Given the description of an element on the screen output the (x, y) to click on. 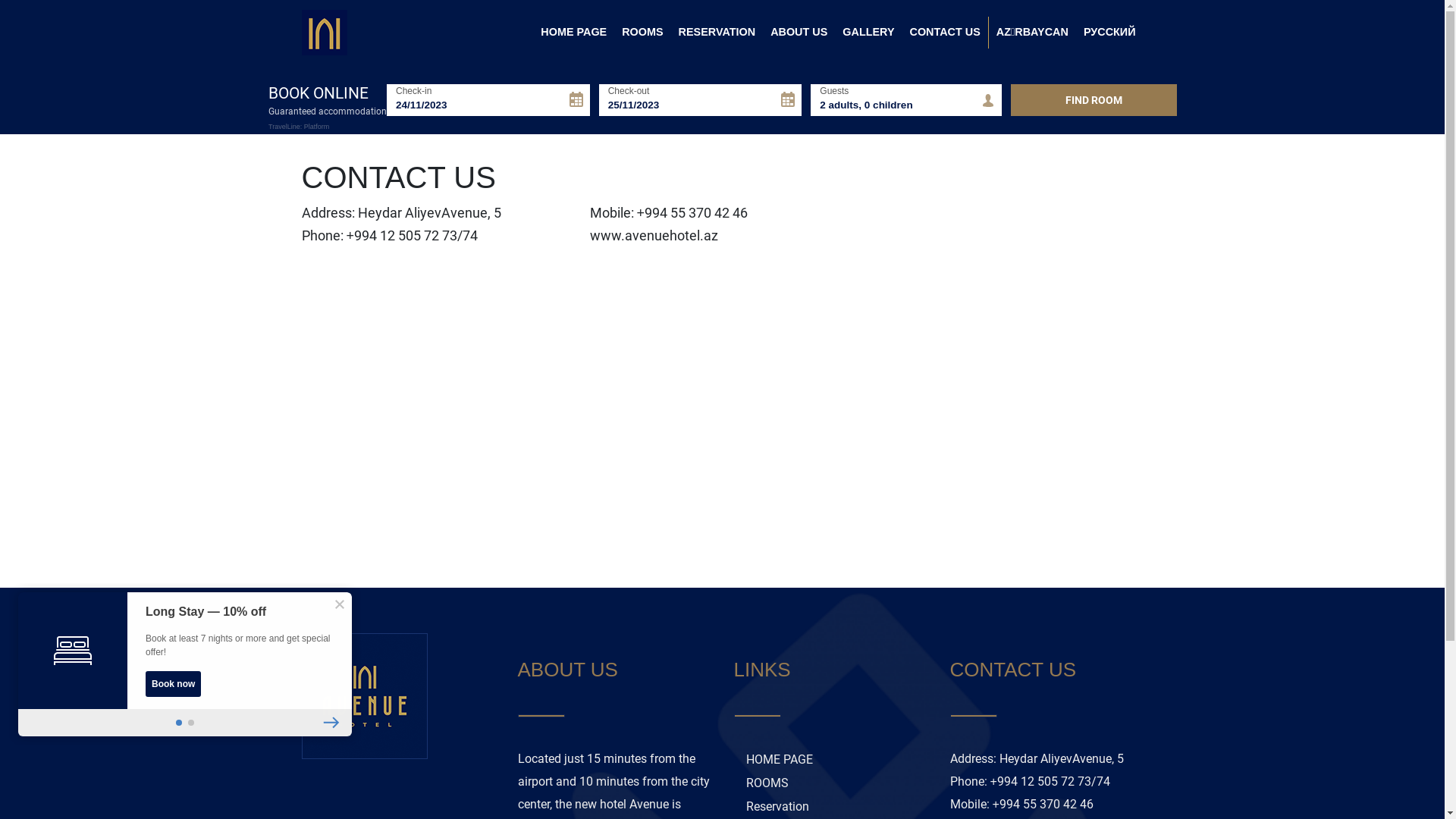
GALLERY Element type: text (867, 32)
HOME PAGE Element type: text (573, 32)
Reservation Element type: text (830, 806)
ROOMS Element type: text (642, 32)
ABOUT US Element type: text (798, 32)
CONTACT US Element type: text (945, 32)
HOME PAGE Element type: text (830, 759)
ROOMS Element type: text (830, 782)
RESERVATION Element type: text (717, 32)
